Given the description of an element on the screen output the (x, y) to click on. 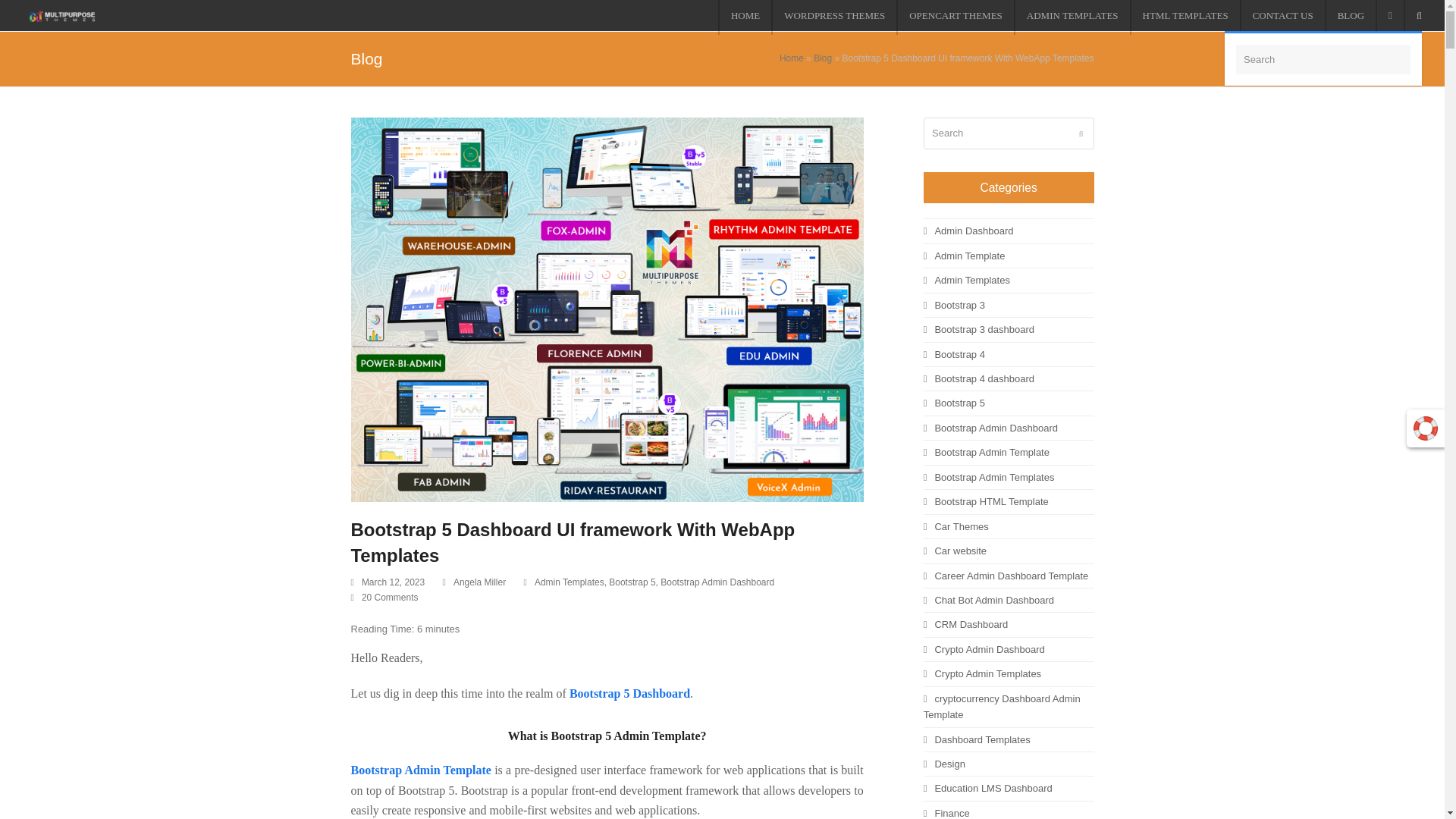
CONTACT US (1282, 17)
ADMIN TEMPLATES (1071, 17)
Blog (822, 58)
20 Comments (383, 598)
BLOG (1349, 17)
Bootstrap Admin Template (420, 769)
20 Comments (390, 597)
Admin Templates (569, 582)
WORDPRESS THEMES (833, 17)
HTML TEMPLATES (1184, 17)
